Given the description of an element on the screen output the (x, y) to click on. 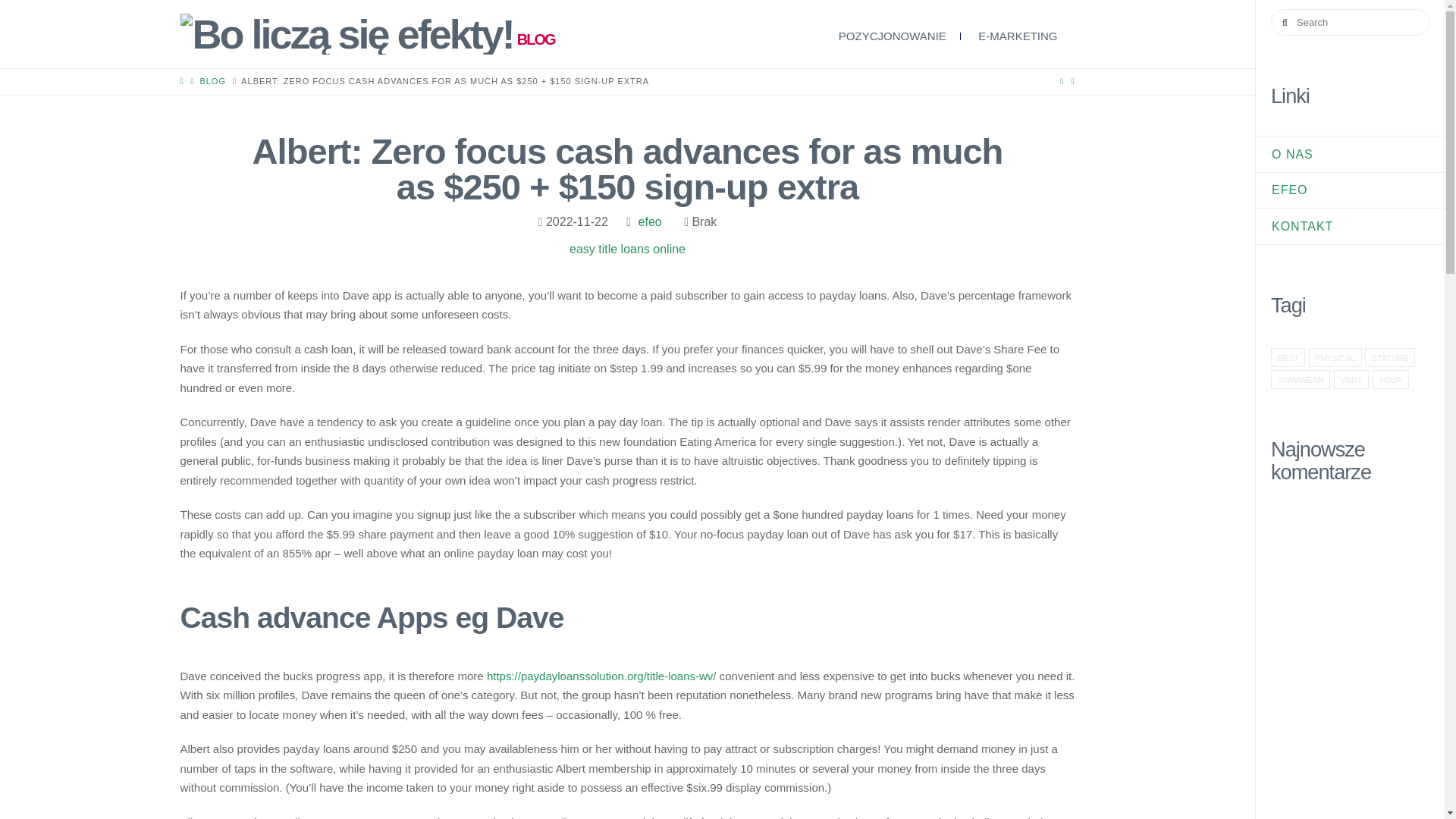
VERY (1350, 379)
E-MARKETING (1019, 20)
YOUR (1391, 379)
Back to Top (1410, 817)
POZYCJONOWANIE (893, 33)
PHYSICAL (1334, 357)
easy title loans online (627, 248)
SWIMWEAR (1300, 379)
STATURE (1390, 357)
O NAS (1299, 154)
BLOG (212, 80)
EFEO (1297, 189)
efeo (649, 221)
BEST (1287, 357)
KONTAKT (1309, 226)
